Given the description of an element on the screen output the (x, y) to click on. 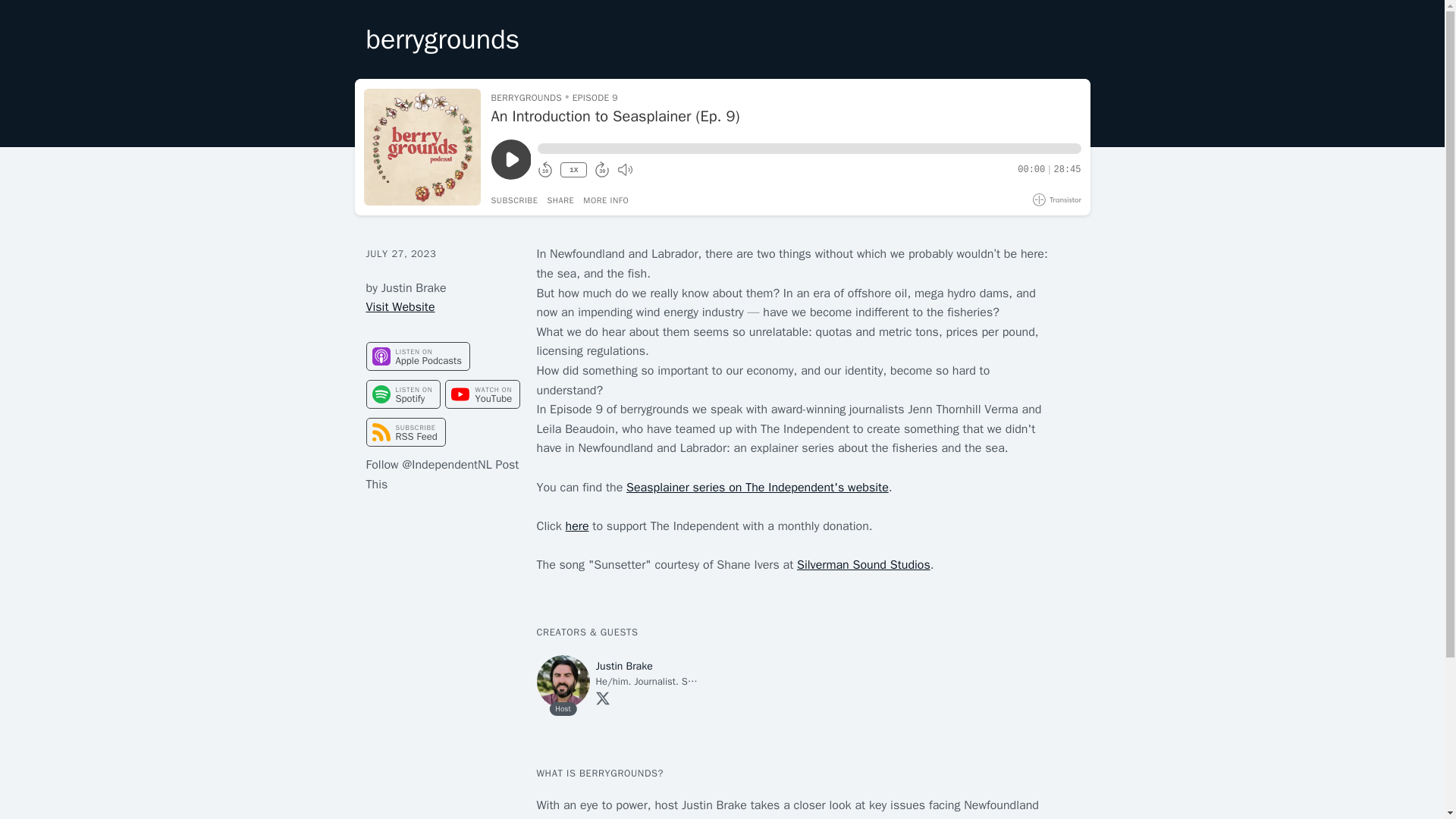
Show sharing options (560, 200)
1X (573, 169)
MORE INFO (605, 200)
SUBSCRIBE (515, 200)
Show subscribe options (515, 200)
Seek within Episode (808, 148)
10 (545, 170)
Fast Forward 30 seconds (602, 170)
Rewind 10 seconds (545, 170)
SHARE (560, 200)
Show episode details (605, 200)
30 (602, 170)
Visit Transistor.fm - Podcast Hosting and Analytics (1056, 199)
Play (511, 159)
